Given the description of an element on the screen output the (x, y) to click on. 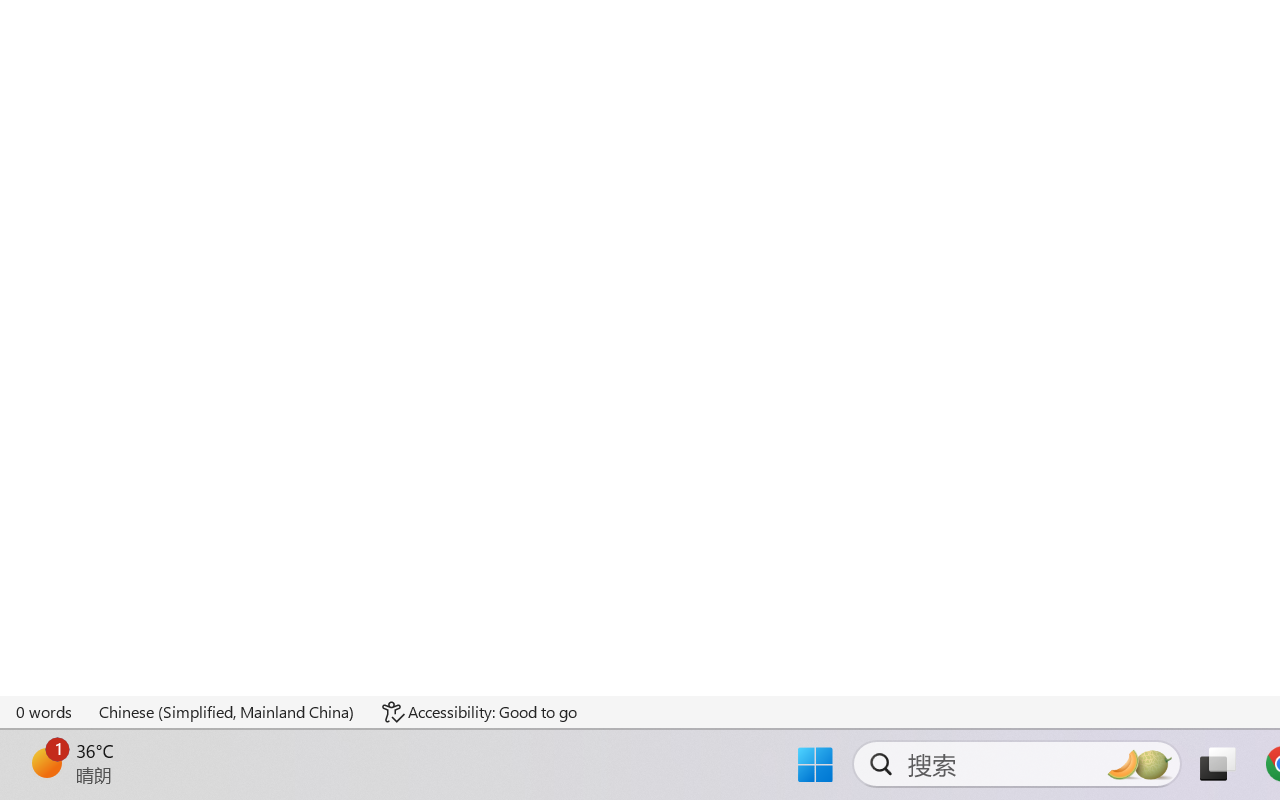
Language Chinese (Simplified, Mainland China) (227, 712)
